Given the description of an element on the screen output the (x, y) to click on. 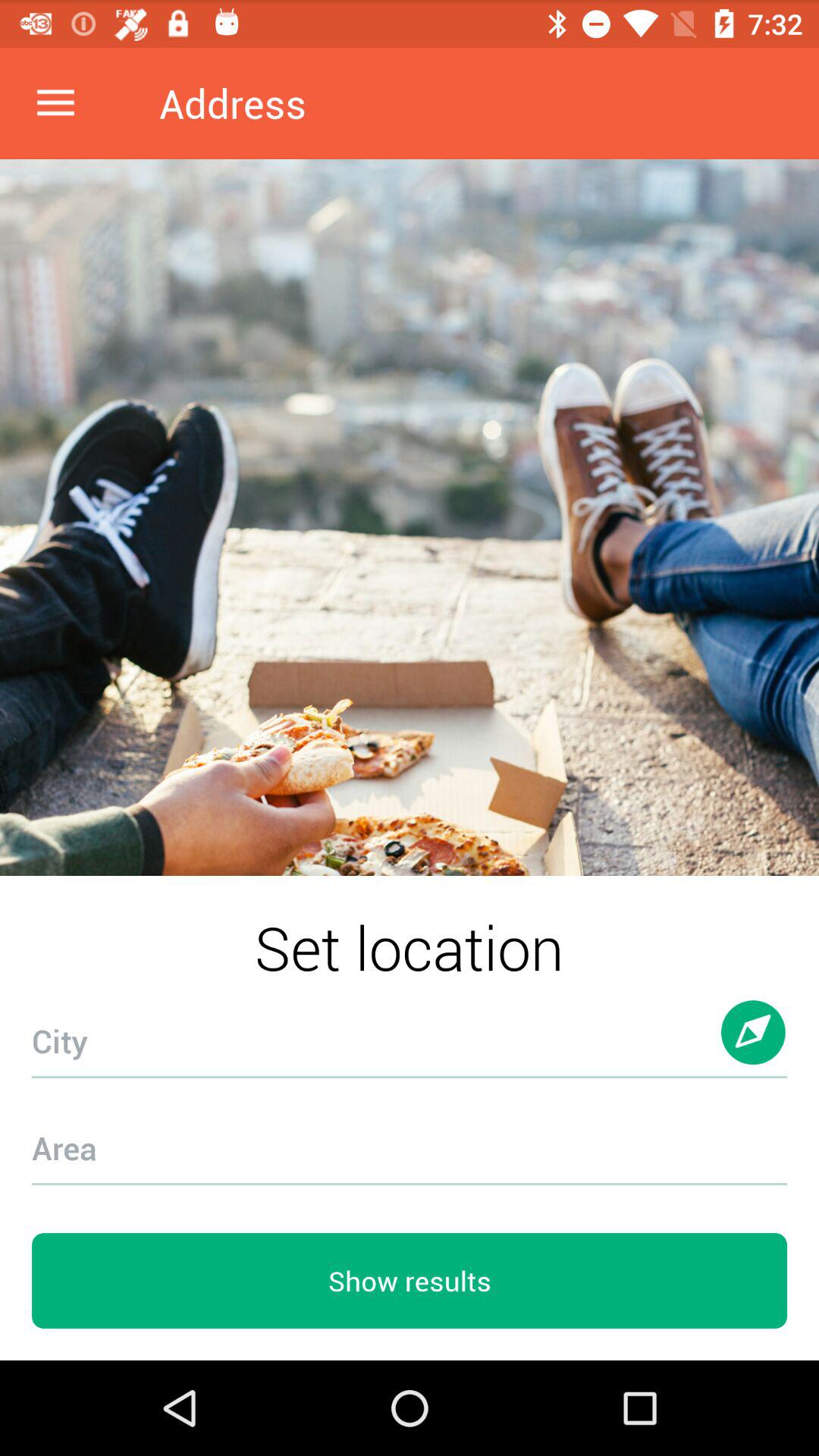
press the item at the top left corner (55, 103)
